Given the description of an element on the screen output the (x, y) to click on. 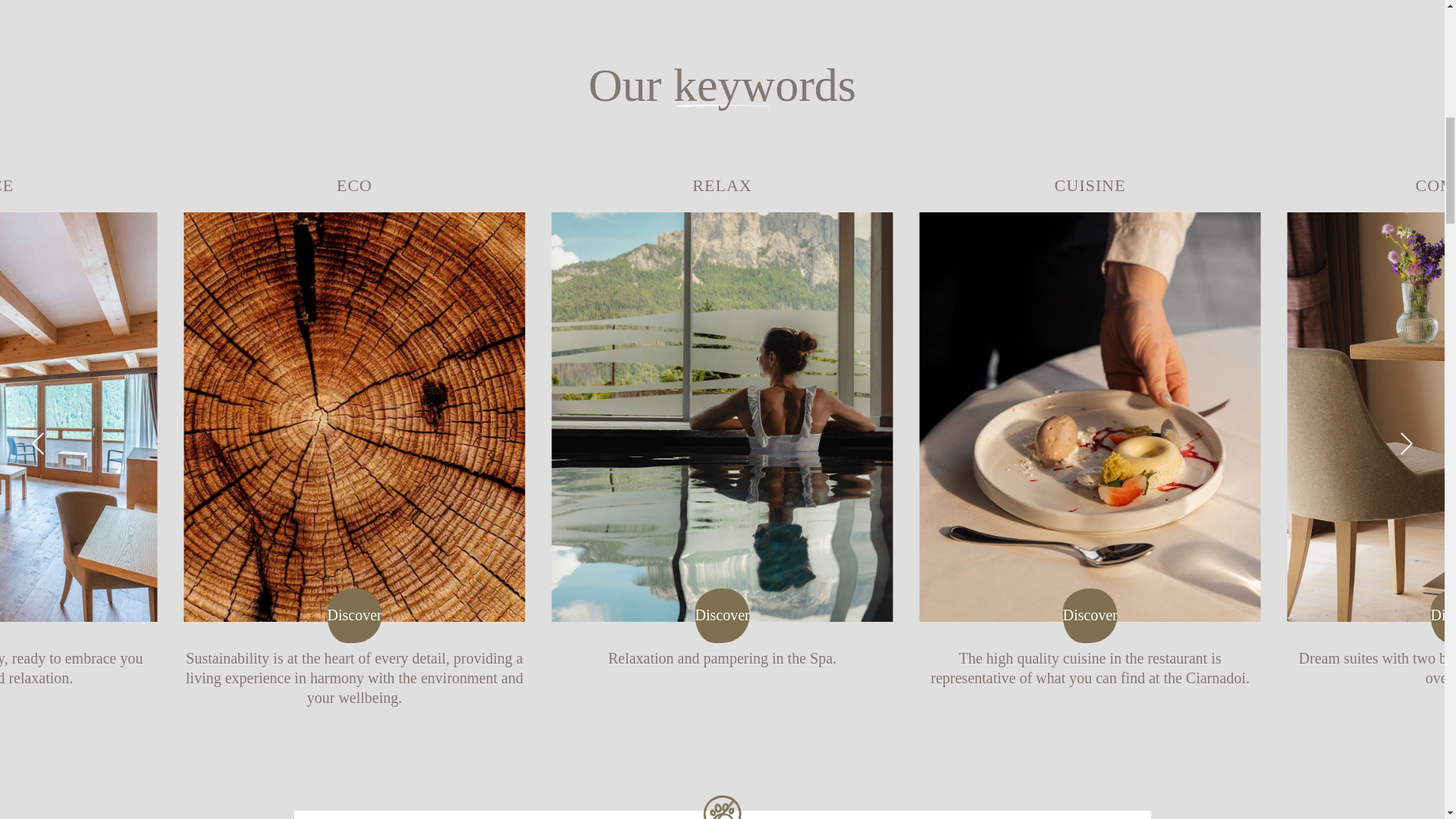
Discover (721, 615)
Discover (354, 615)
Discover (1090, 615)
